Given the description of an element on the screen output the (x, y) to click on. 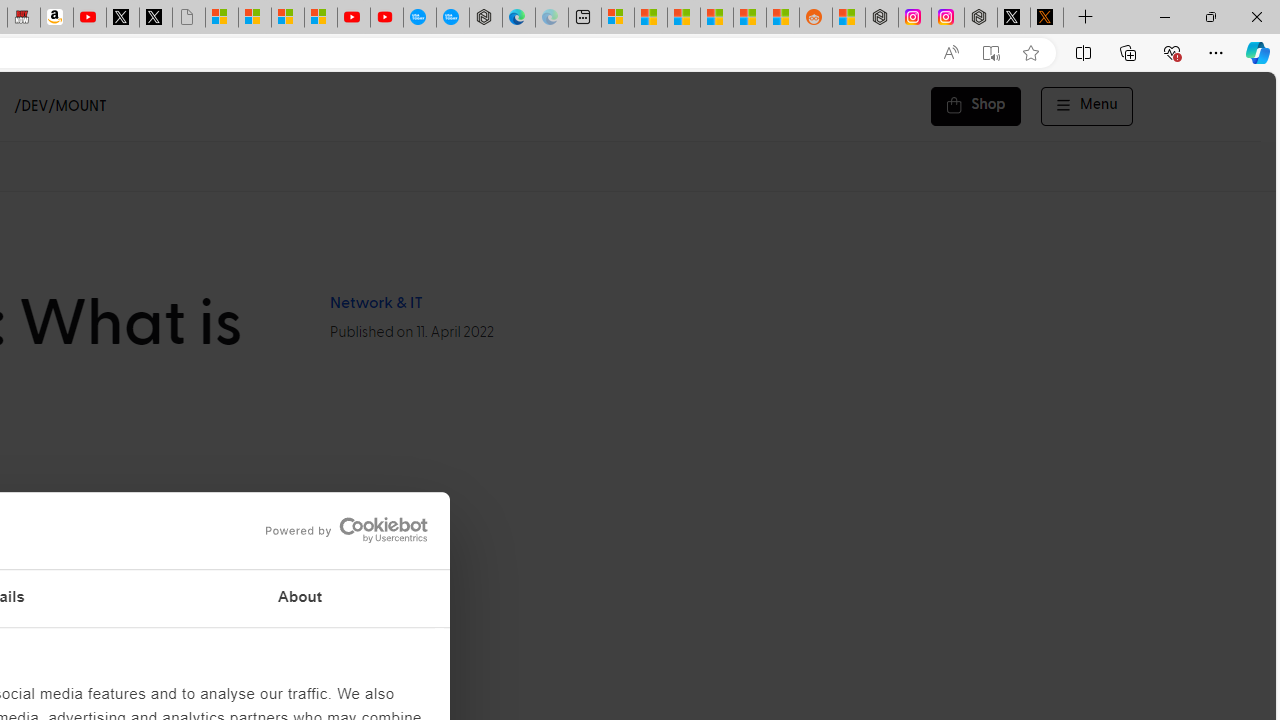
Shop (975, 106)
Untitled (188, 17)
About (299, 598)
Enter Immersive Reader (F9) (991, 53)
logo - opens in a new window (339, 530)
